Given the description of an element on the screen output the (x, y) to click on. 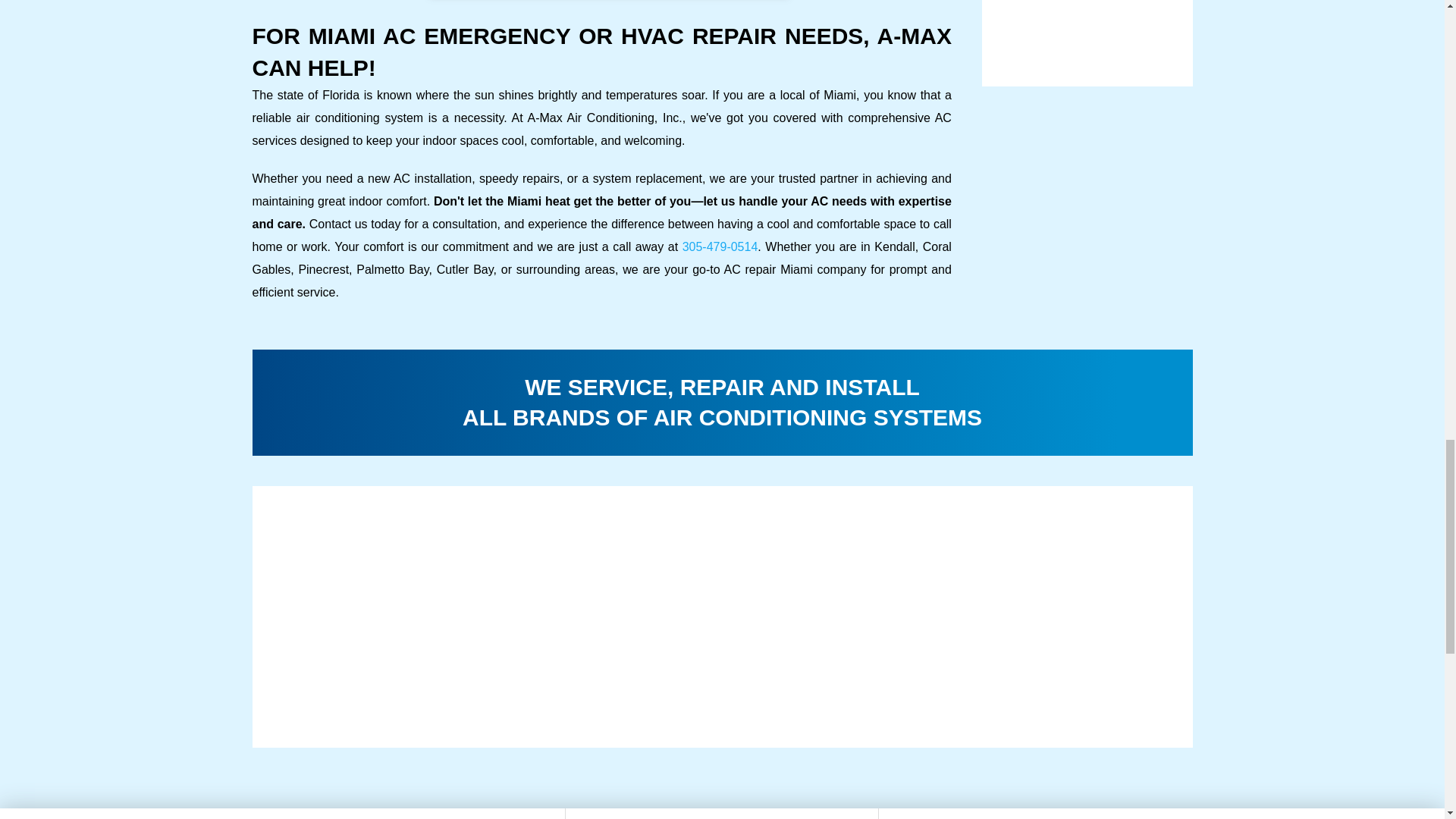
305-479-0514 (720, 246)
